Given the description of an element on the screen output the (x, y) to click on. 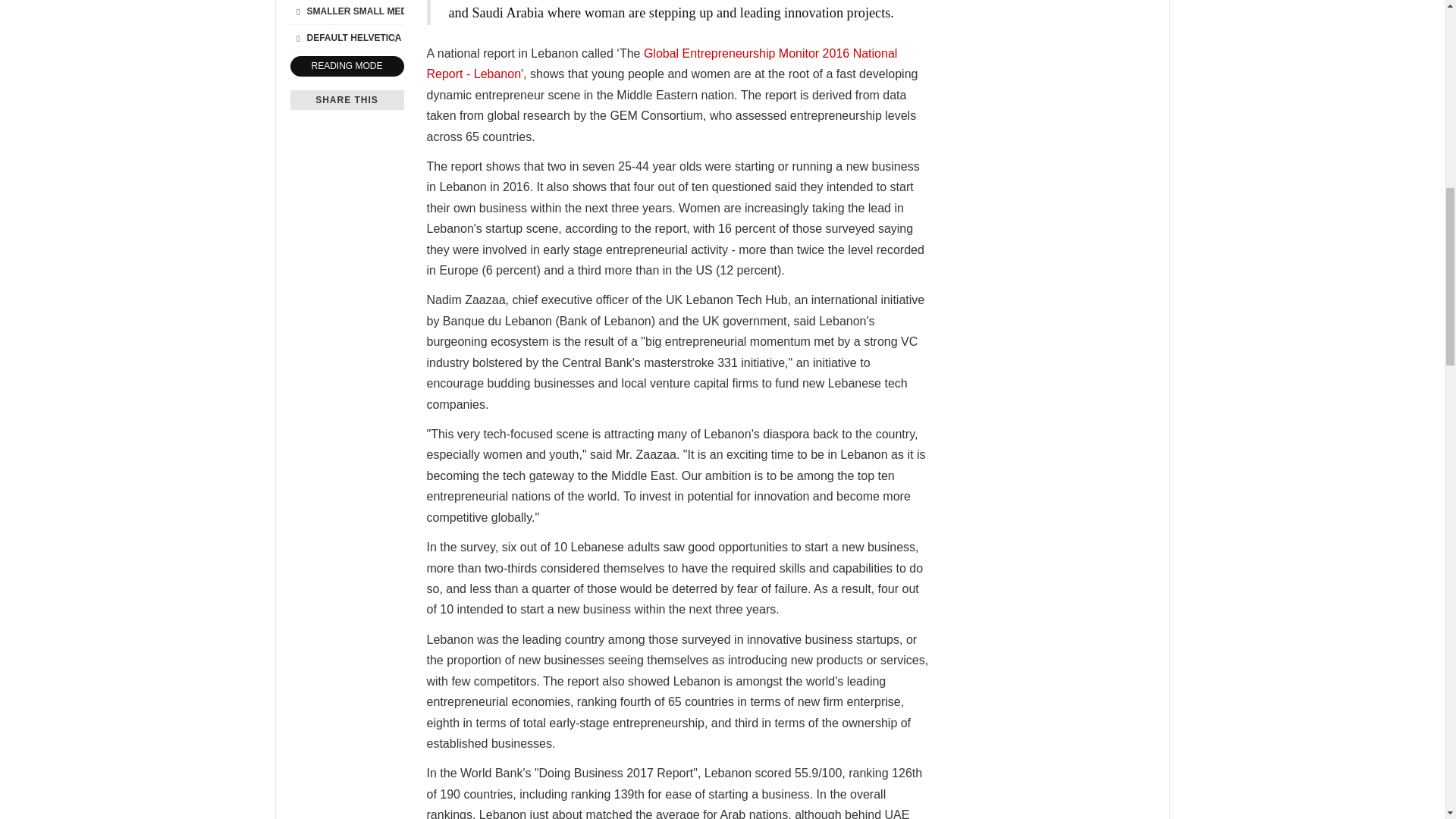
Smaller Font (297, 11)
Bigger Font (395, 11)
Reading Mode (346, 66)
Previous Font Style (297, 37)
Next Font Style (395, 37)
